Given the description of an element on the screen output the (x, y) to click on. 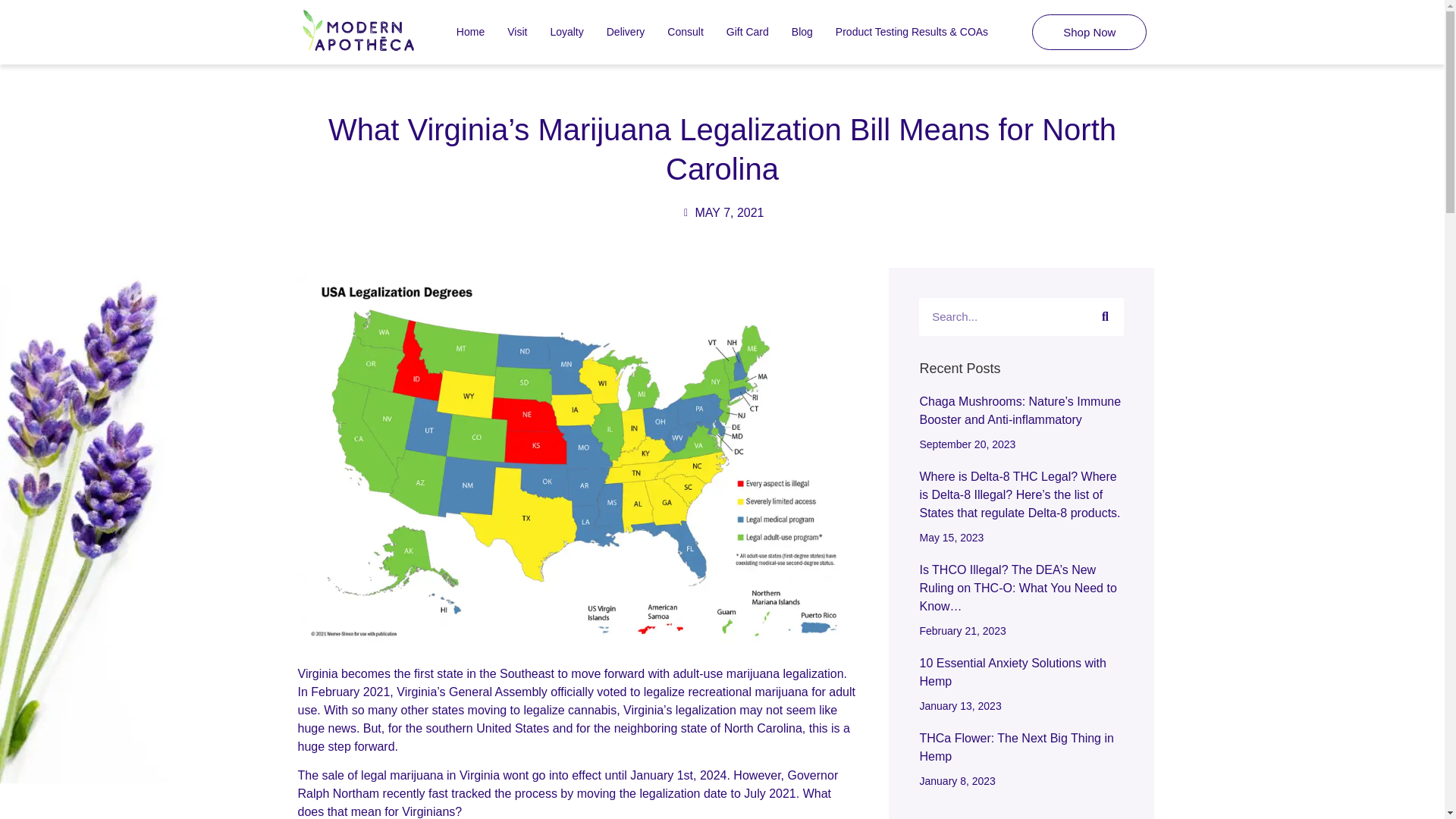
Visit (517, 31)
Shop Now (1089, 31)
MAY 7, 2021 (720, 212)
Loyalty (566, 31)
Consult (685, 31)
Home (470, 31)
Gift Card (747, 31)
Blog (802, 31)
Delivery (625, 31)
